Given the description of an element on the screen output the (x, y) to click on. 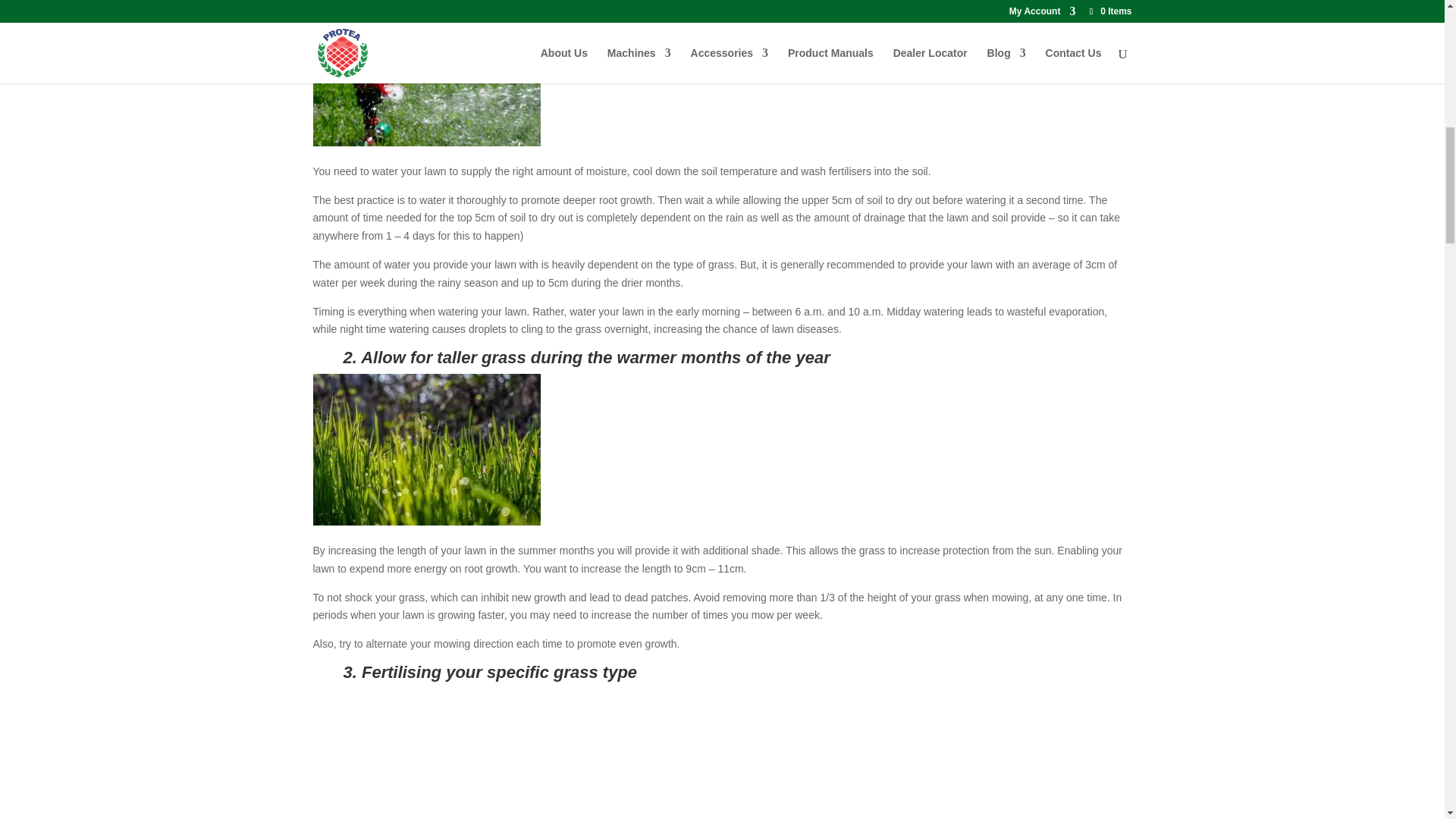
Top 4 basic principles of lawn care 1 (722, 89)
Top 4 basic principles of lawn care 3 (722, 753)
Top 4 basic principles of lawn care 2 (722, 452)
